Given the description of an element on the screen output the (x, y) to click on. 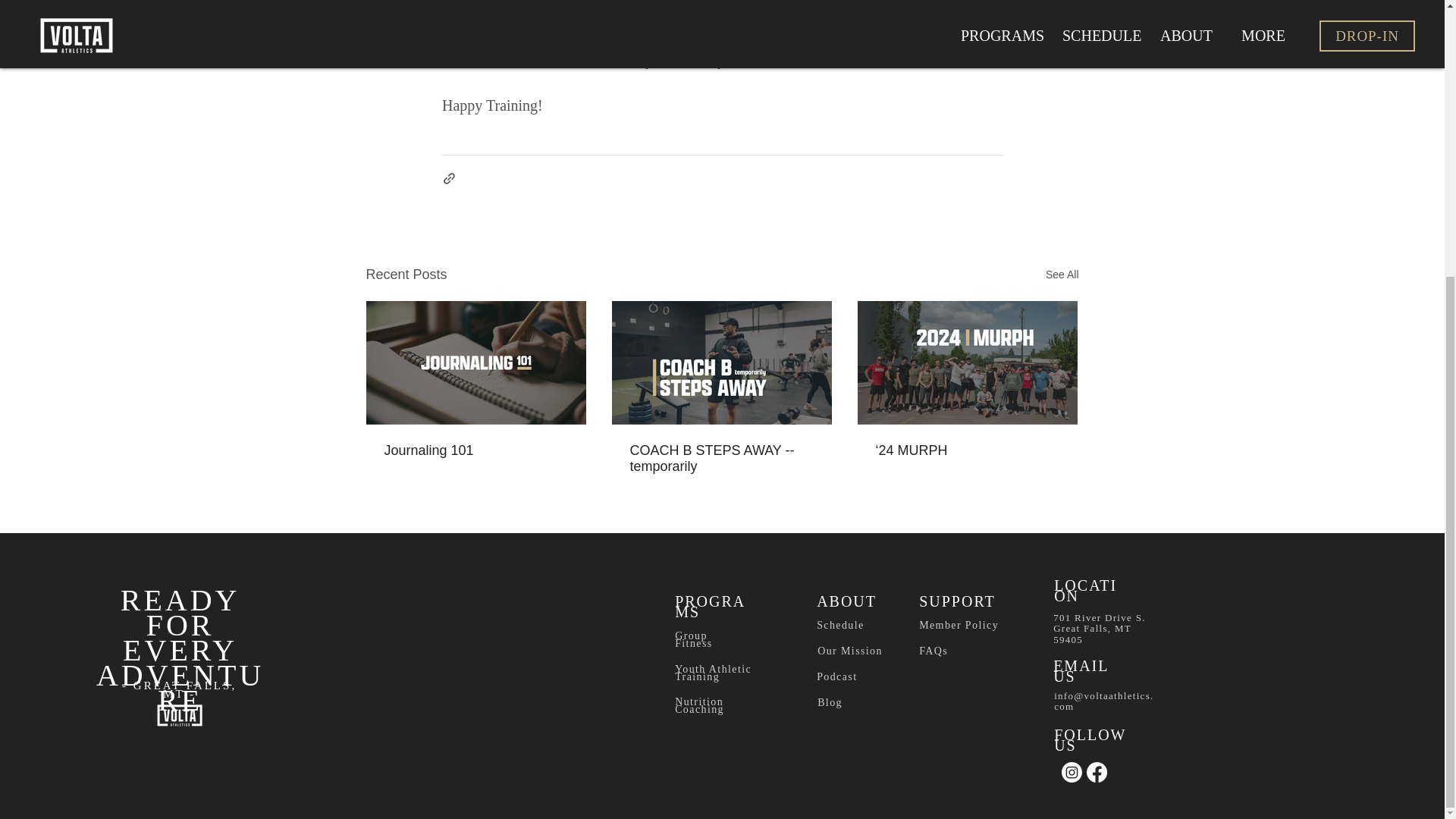
Group Fitness (693, 639)
Youth Athletic Training (713, 672)
Schedule (840, 624)
- GREAT FALLS, MT - (178, 689)
Blog (829, 702)
FAQs (932, 650)
Nutrition Coaching (699, 704)
Member Policy (958, 624)
COACH B STEPS AWAY -- temporarily (720, 459)
Our Mission (849, 650)
